Given the description of an element on the screen output the (x, y) to click on. 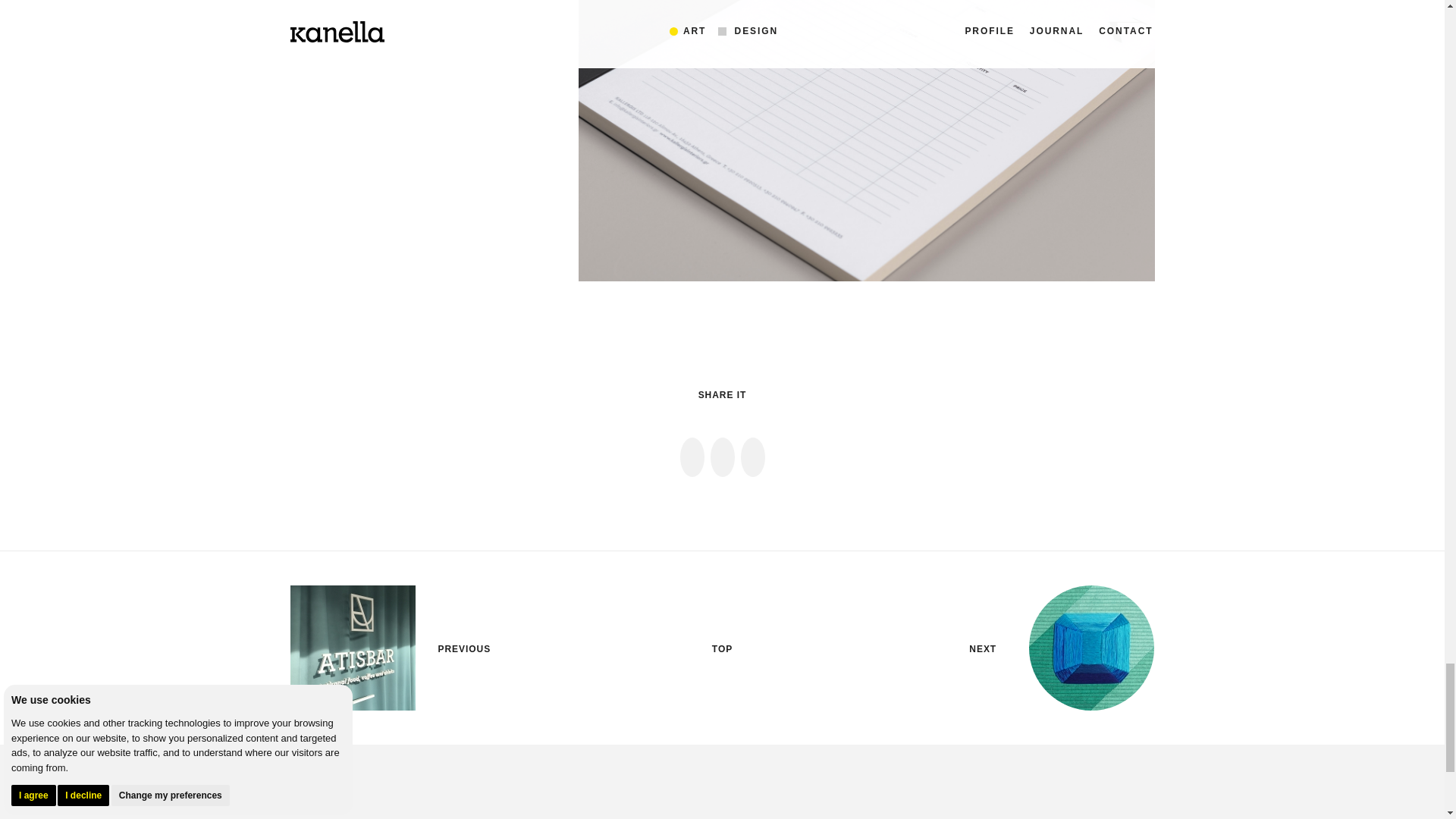
NEXT (982, 649)
PREVIOUS (464, 649)
